Given the description of an element on the screen output the (x, y) to click on. 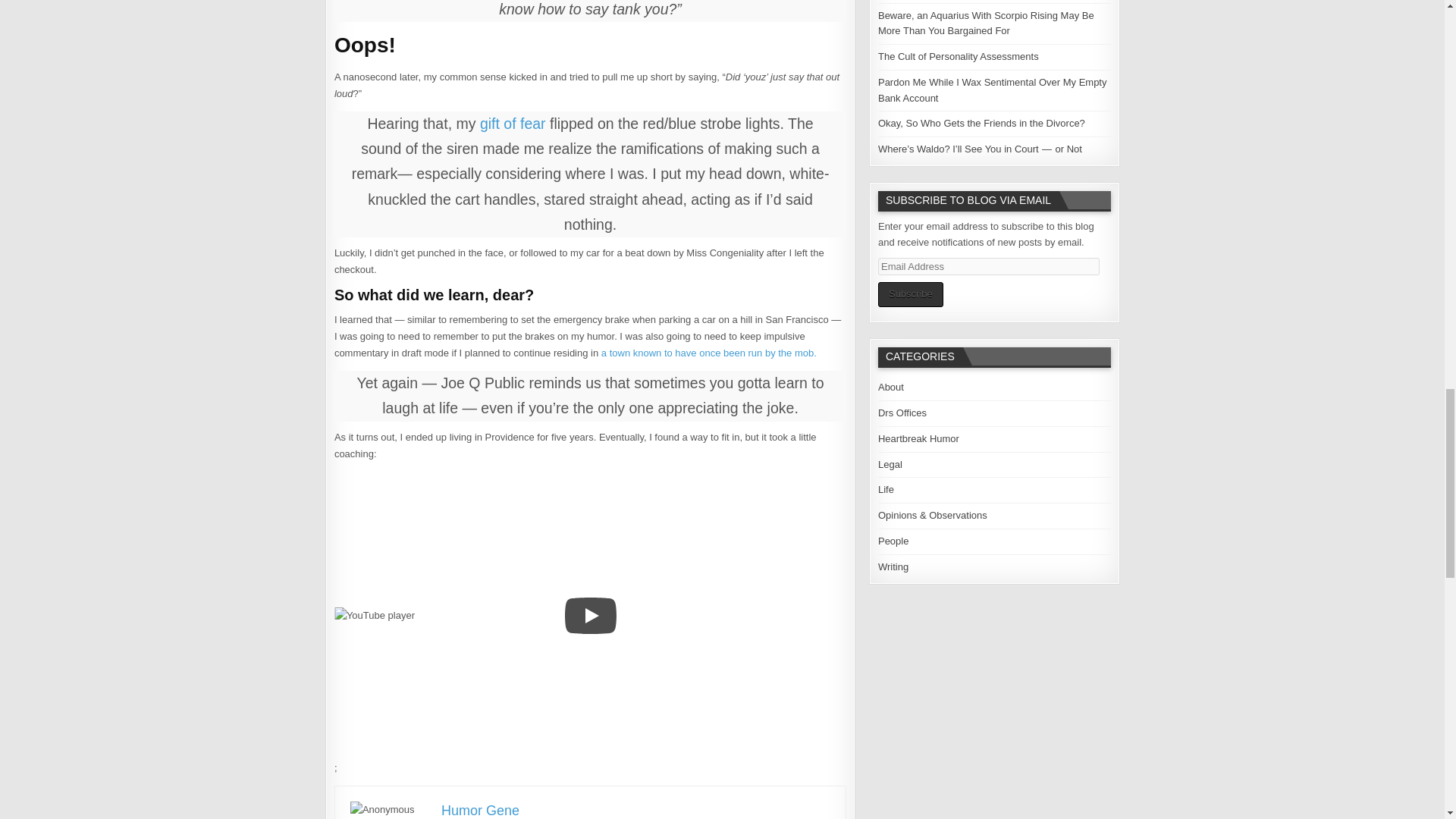
gift of fear (513, 123)
a town known to have once been run by the mob. (708, 352)
Humor Gene (480, 810)
